Given the description of an element on the screen output the (x, y) to click on. 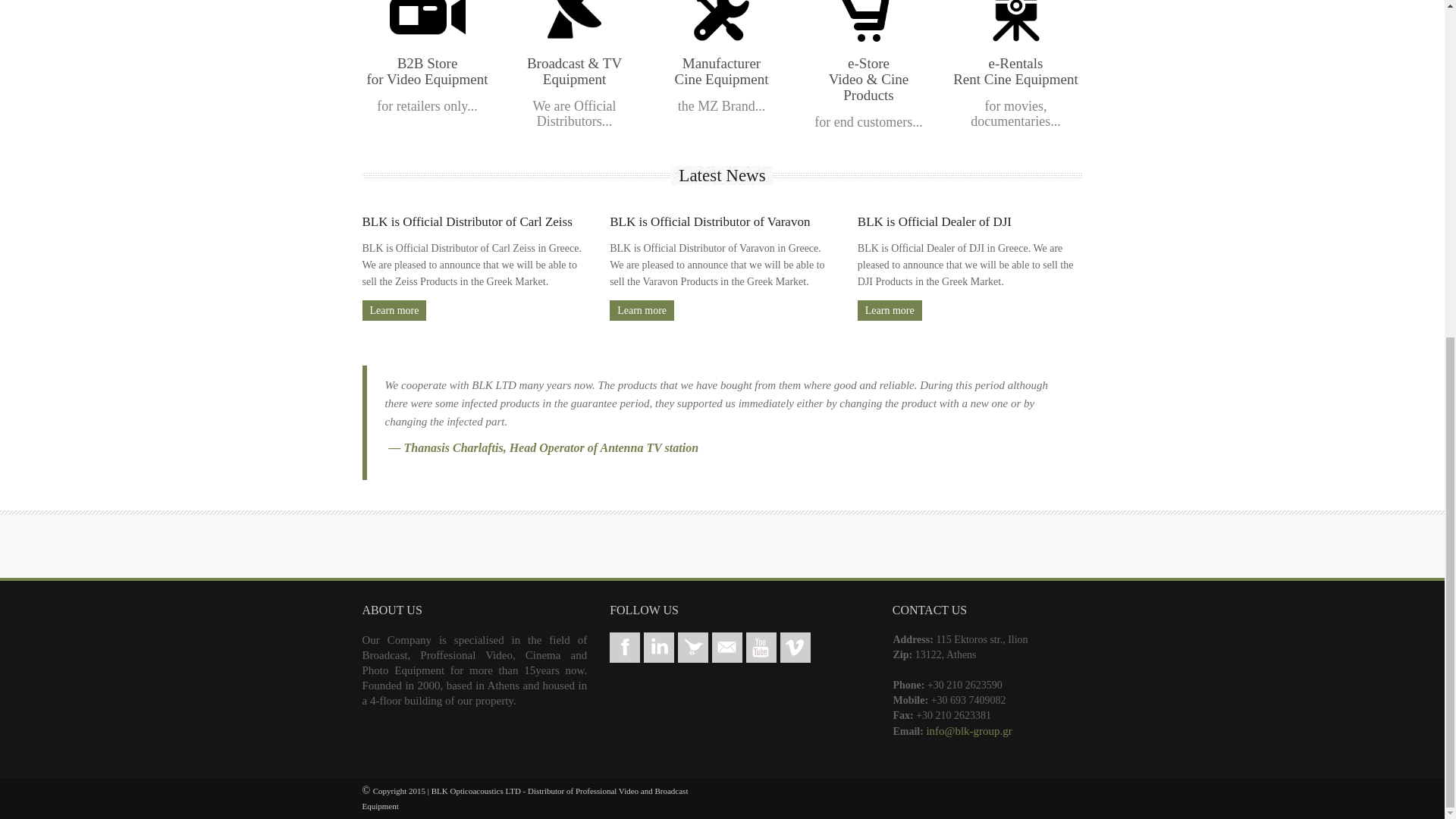
Learn more (394, 310)
Learn more (642, 310)
Linkedin (658, 647)
Send us Email (726, 647)
Learn more (889, 310)
Twitter (692, 647)
YouTube (760, 647)
Vimeo (795, 647)
Facebook (625, 647)
